Given the description of an element on the screen output the (x, y) to click on. 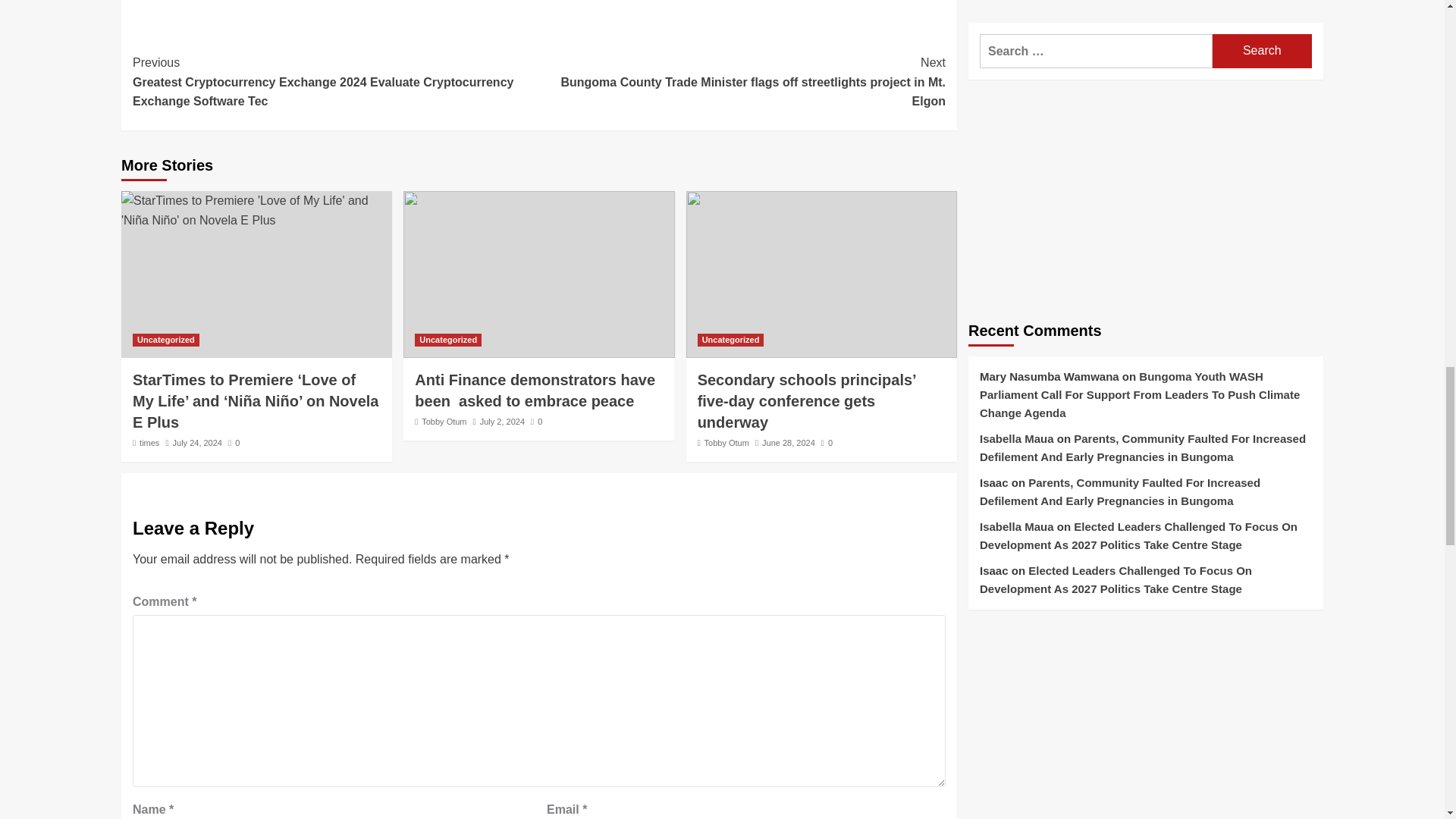
July 24, 2024 (197, 442)
Uncategorized (447, 339)
0 (234, 442)
Uncategorized (730, 339)
Uncategorized (165, 339)
0 (536, 420)
times (148, 442)
July 2, 2024 (502, 420)
